Given the description of an element on the screen output the (x, y) to click on. 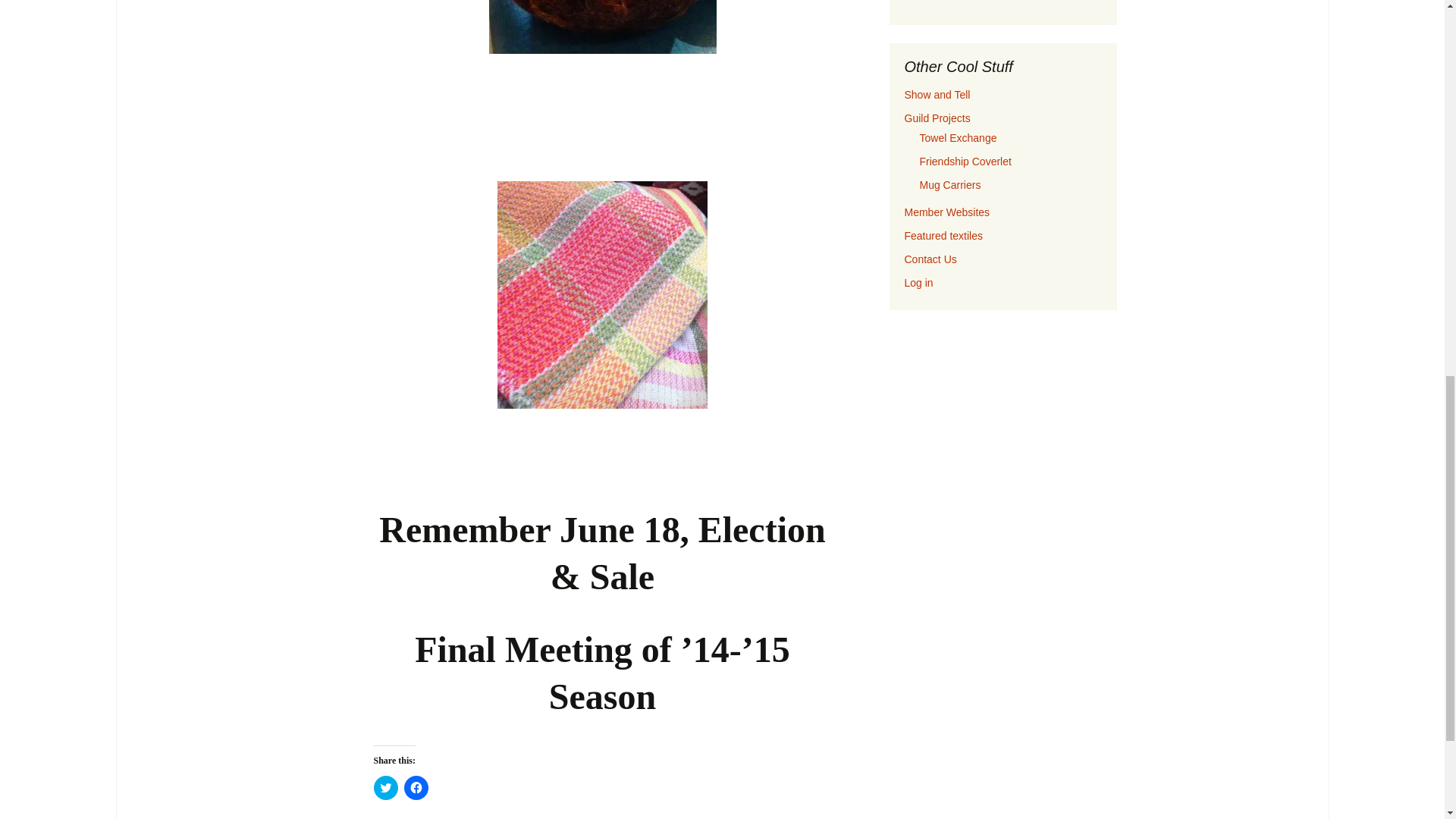
Click to share on Facebook (415, 787)
Click to share on Twitter (384, 787)
